Given the description of an element on the screen output the (x, y) to click on. 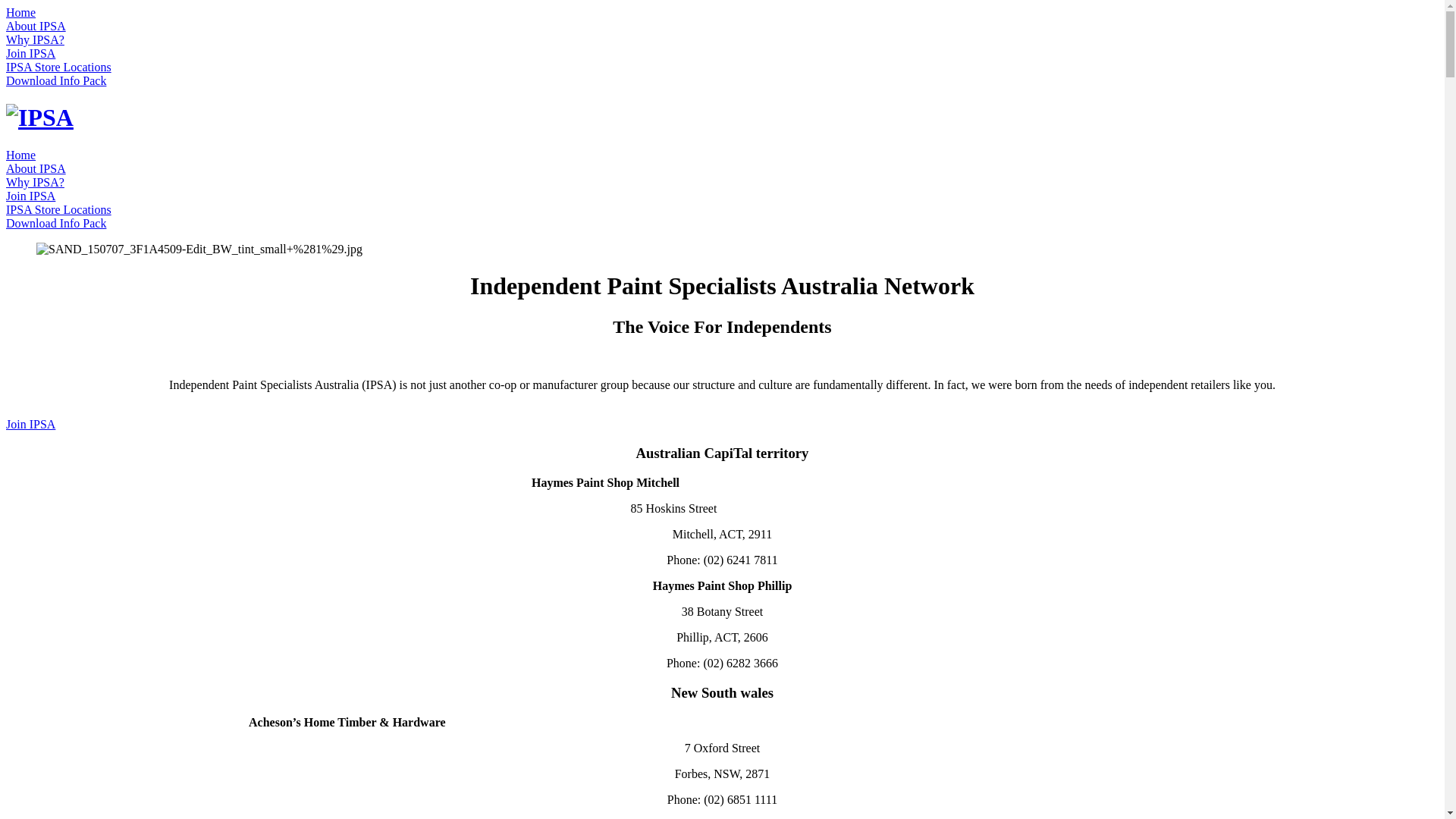
IPSA Store Locations Element type: text (58, 209)
Join IPSA Element type: text (30, 53)
Join IPSA Element type: text (30, 195)
Home Element type: text (20, 154)
About IPSA Element type: text (35, 25)
Why IPSA? Element type: text (35, 181)
About IPSA Element type: text (35, 168)
IPSA Store Locations Element type: text (58, 66)
Download Info Pack Element type: text (56, 80)
Home Element type: text (20, 12)
Join IPSA Element type: text (30, 423)
Download Info Pack Element type: text (56, 222)
Why IPSA? Element type: text (35, 39)
